Given the description of an element on the screen output the (x, y) to click on. 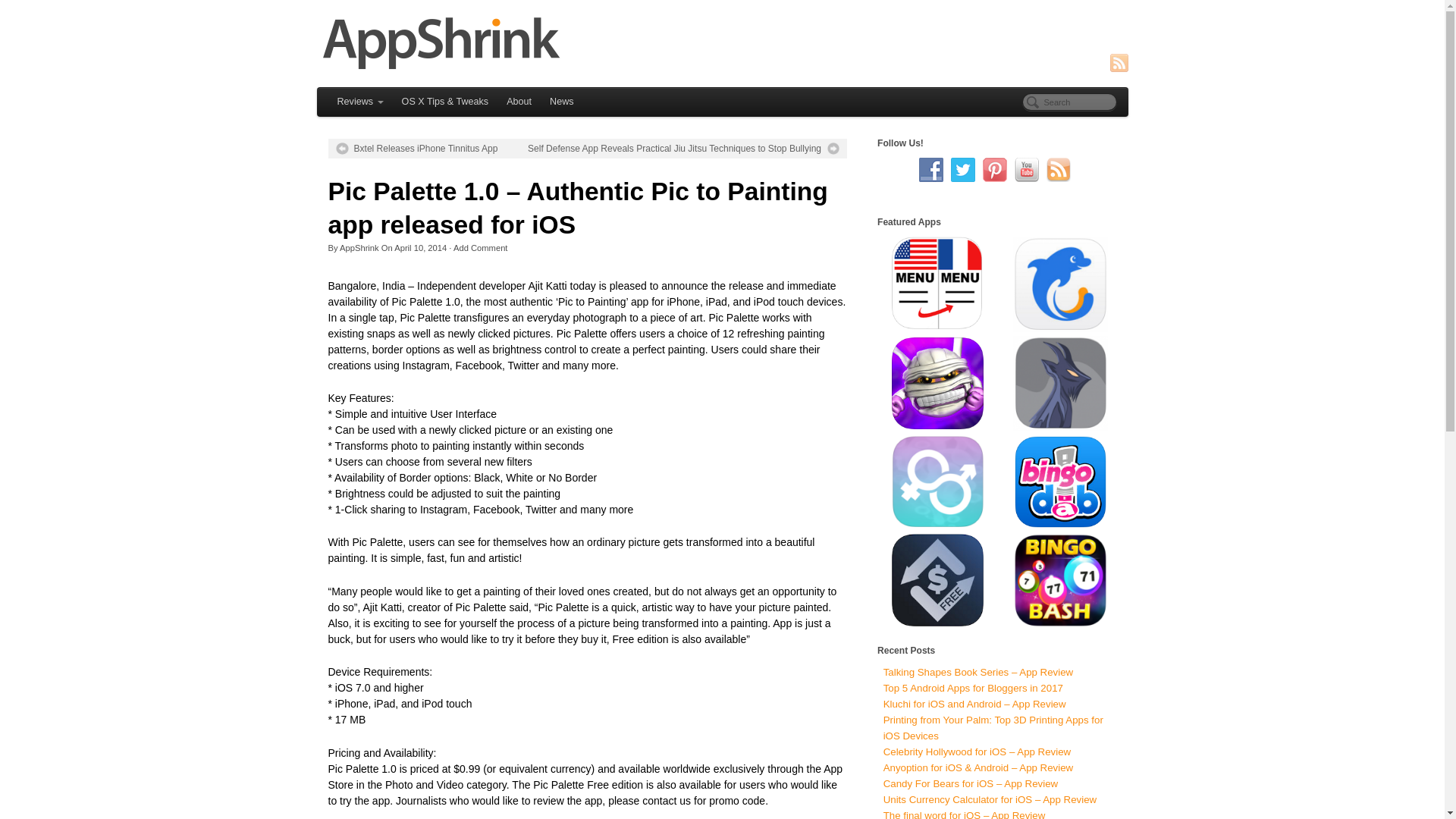
Bxtel Releases iPhone Tinnitus App (415, 148)
News (561, 102)
AppShrink (722, 41)
Add Comment (480, 247)
AppShrink (358, 247)
About (518, 102)
Reviews (359, 102)
Reviews (359, 102)
Posts by AppShrink (358, 247)
